Given the description of an element on the screen output the (x, y) to click on. 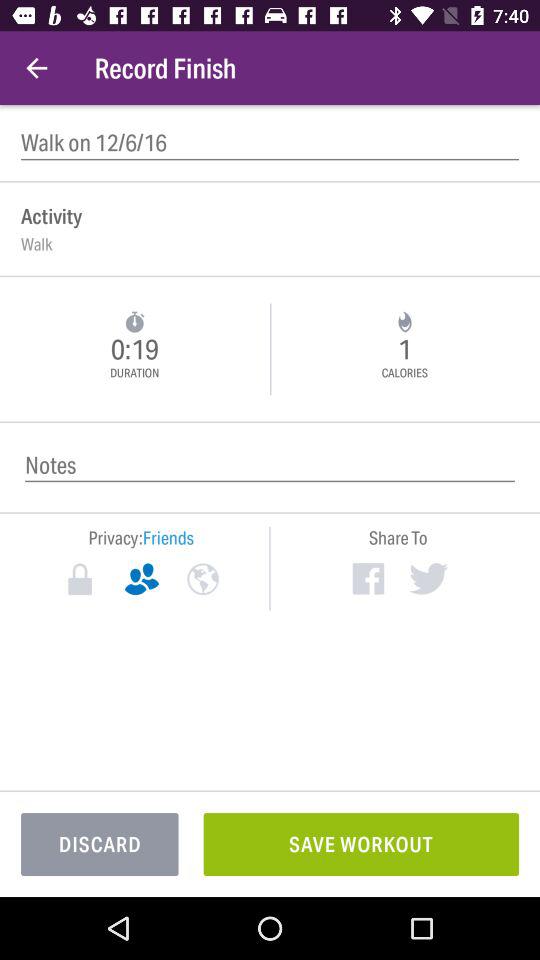
google map (202, 579)
